Given the description of an element on the screen output the (x, y) to click on. 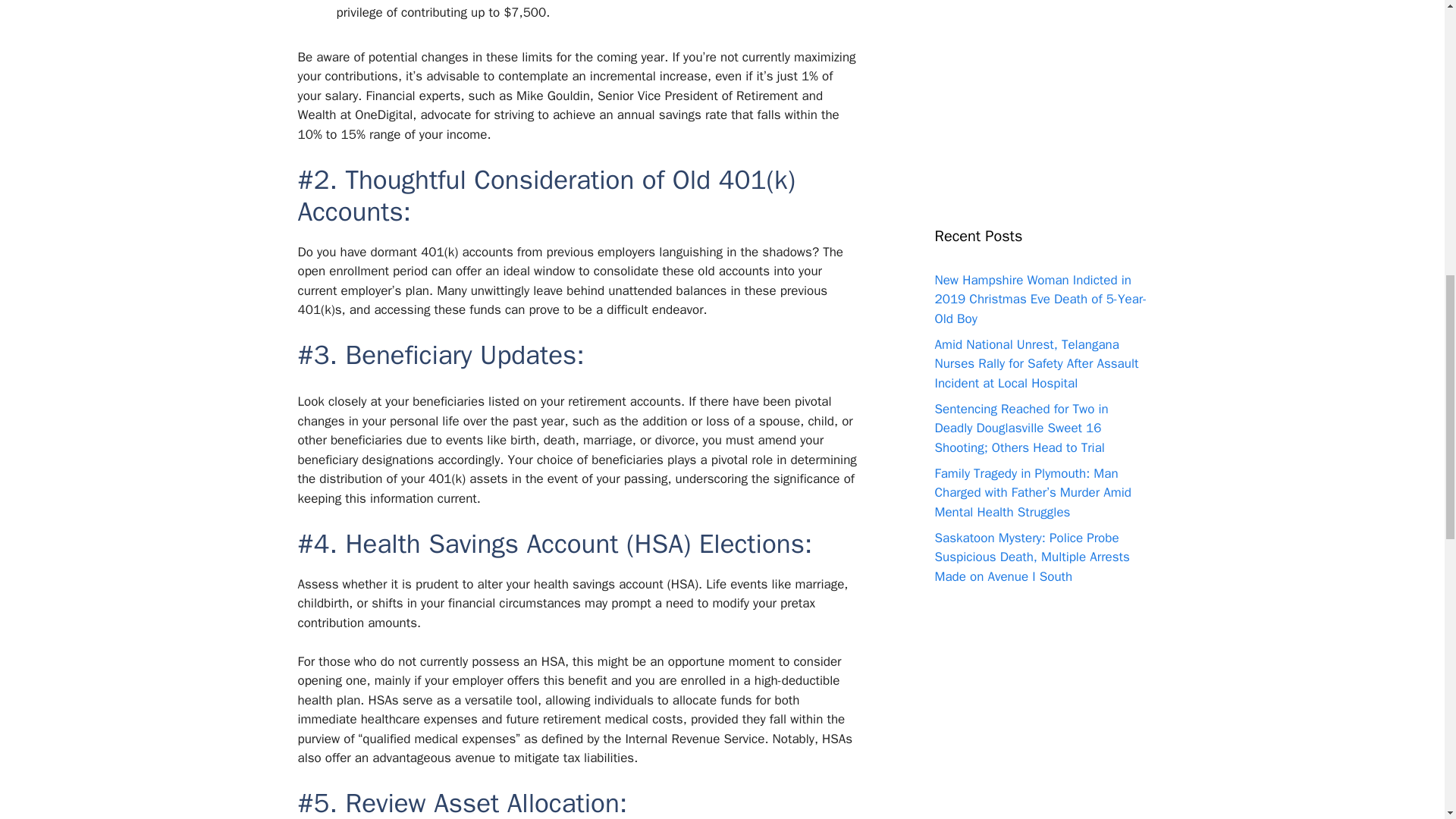
Advertisement (1040, 89)
